Given the description of an element on the screen output the (x, y) to click on. 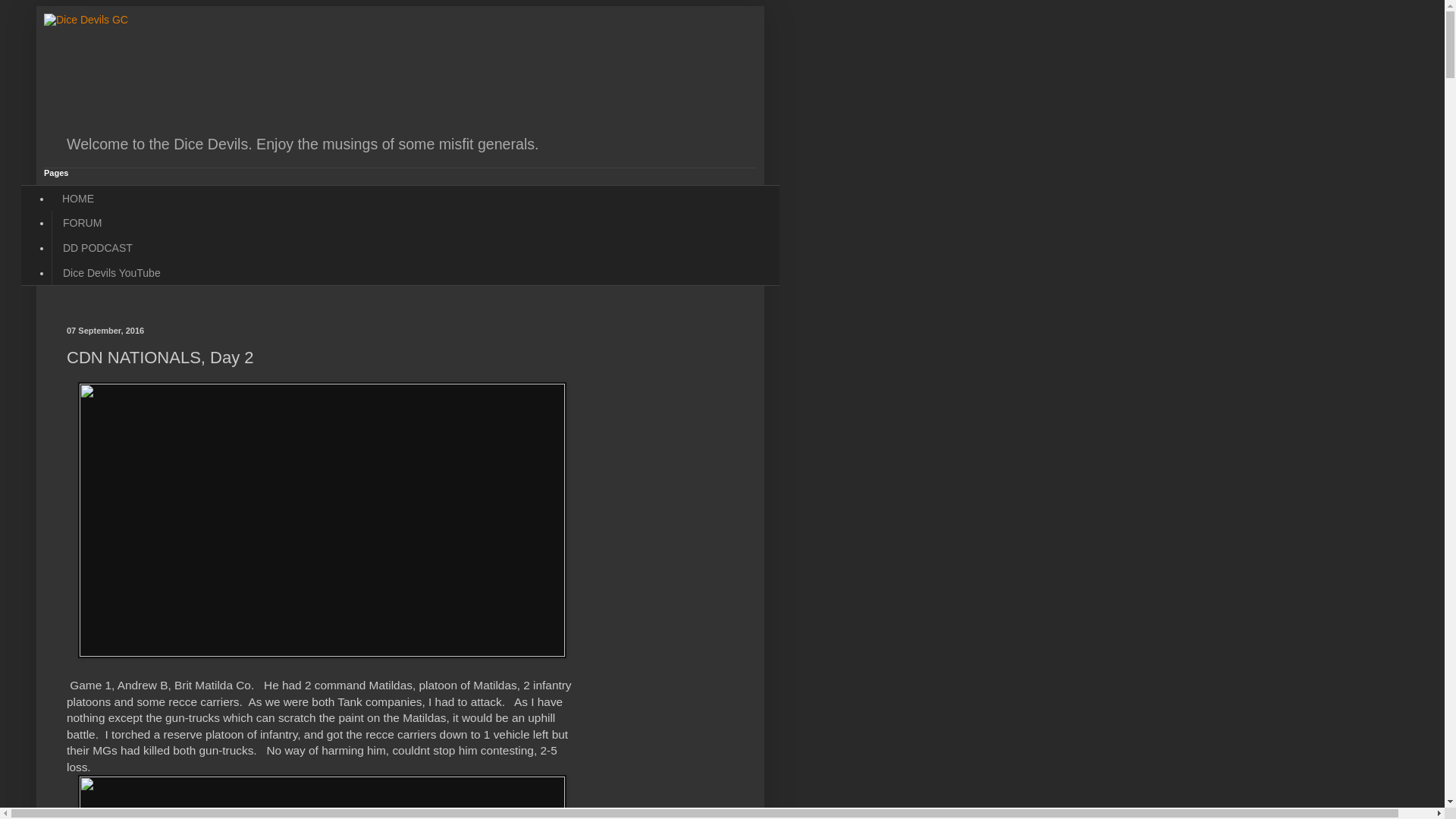
FORUM (81, 222)
DD PODCAST (96, 248)
Dice Devils YouTube (110, 273)
HOME (77, 197)
